Given the description of an element on the screen output the (x, y) to click on. 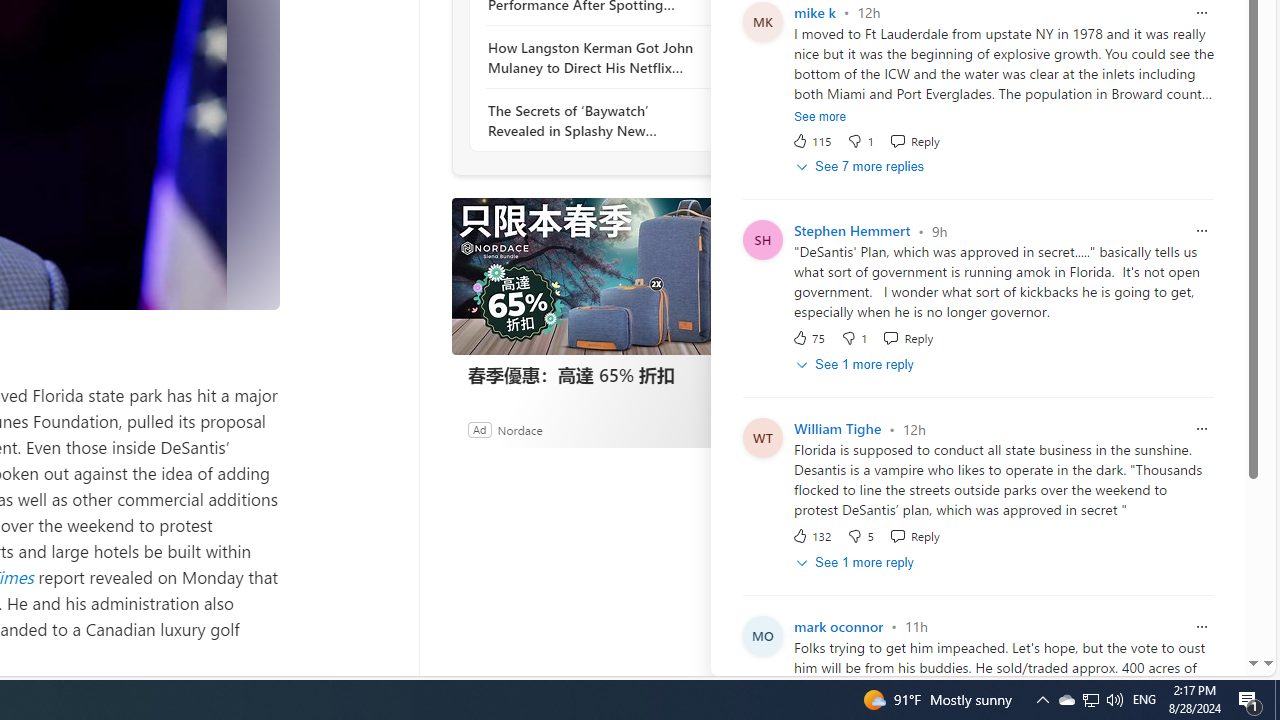
115 Like (811, 140)
Report comment (1201, 625)
Ad Choice (729, 429)
132 Like (811, 536)
mike k (814, 12)
Reply Reply Comment (914, 536)
William Tighe (837, 429)
Feedback (1185, 659)
Stephen Hemmert (852, 231)
75 Like (808, 338)
See 1 more reply (855, 562)
